Given the description of an element on the screen output the (x, y) to click on. 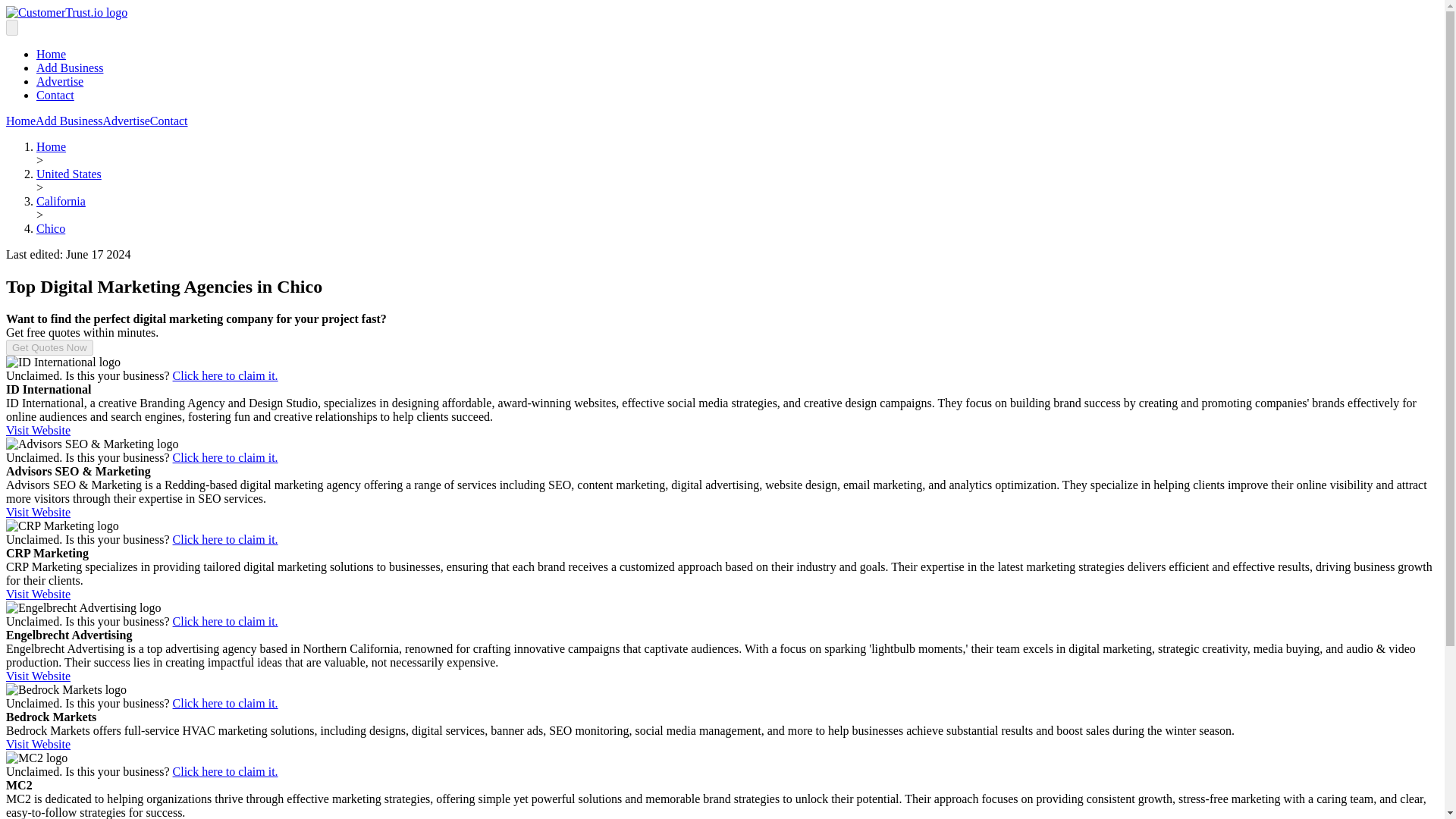
Get Quotes Now (49, 347)
Add Business (67, 120)
Click here to claim it. (225, 771)
Home (19, 120)
Click here to claim it. (225, 539)
Contact (168, 120)
Add Business (69, 67)
Visit Website (37, 744)
Click here to claim it. (225, 375)
Click here to claim it. (225, 703)
Home (50, 53)
Visit Website (37, 512)
California (60, 201)
Advertise (59, 81)
Contact (55, 94)
